Given the description of an element on the screen output the (x, y) to click on. 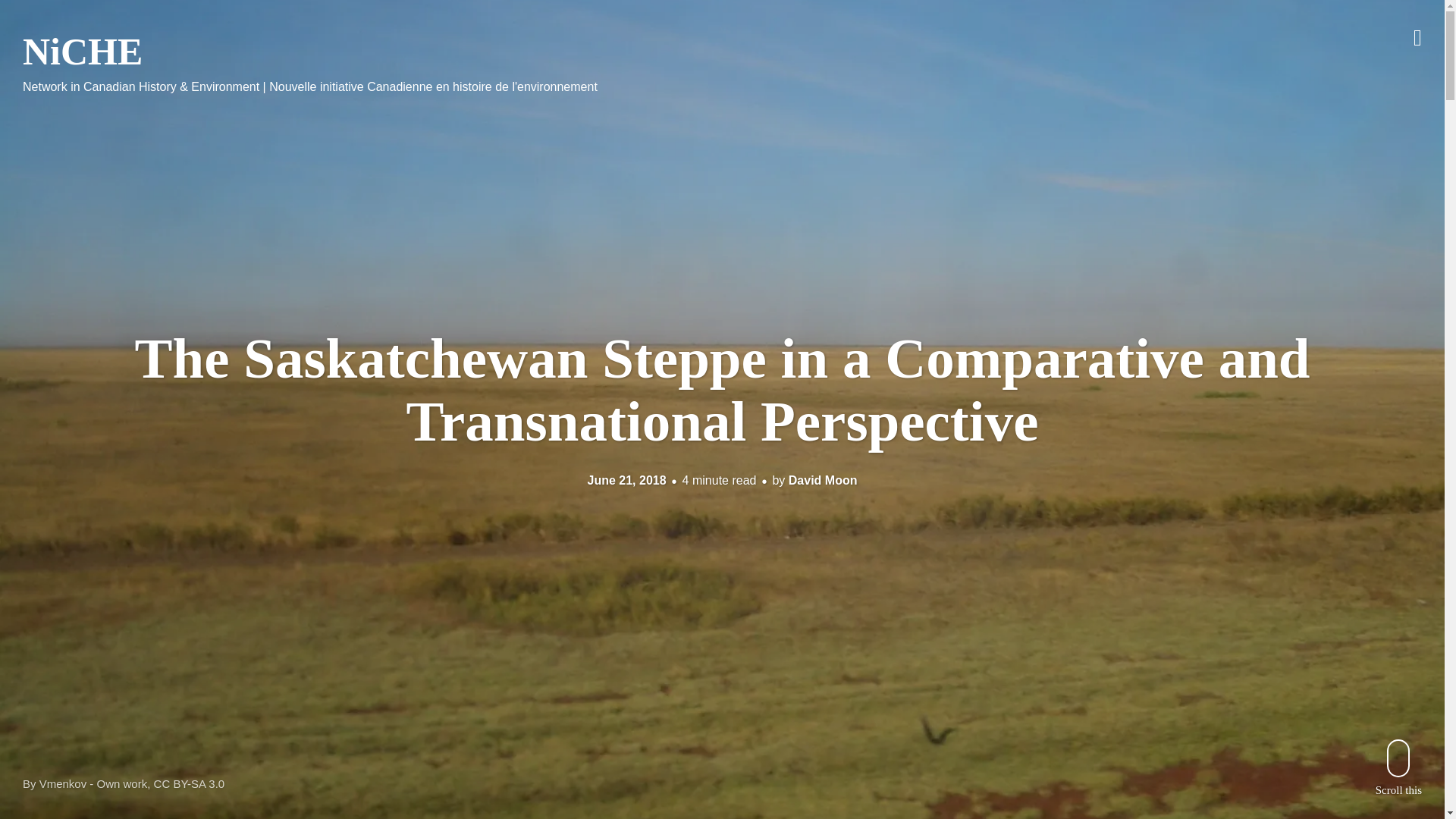
June 21, 2018 (627, 480)
NiCHE (82, 51)
David Moon (823, 480)
7:49 am (627, 480)
